Given the description of an element on the screen output the (x, y) to click on. 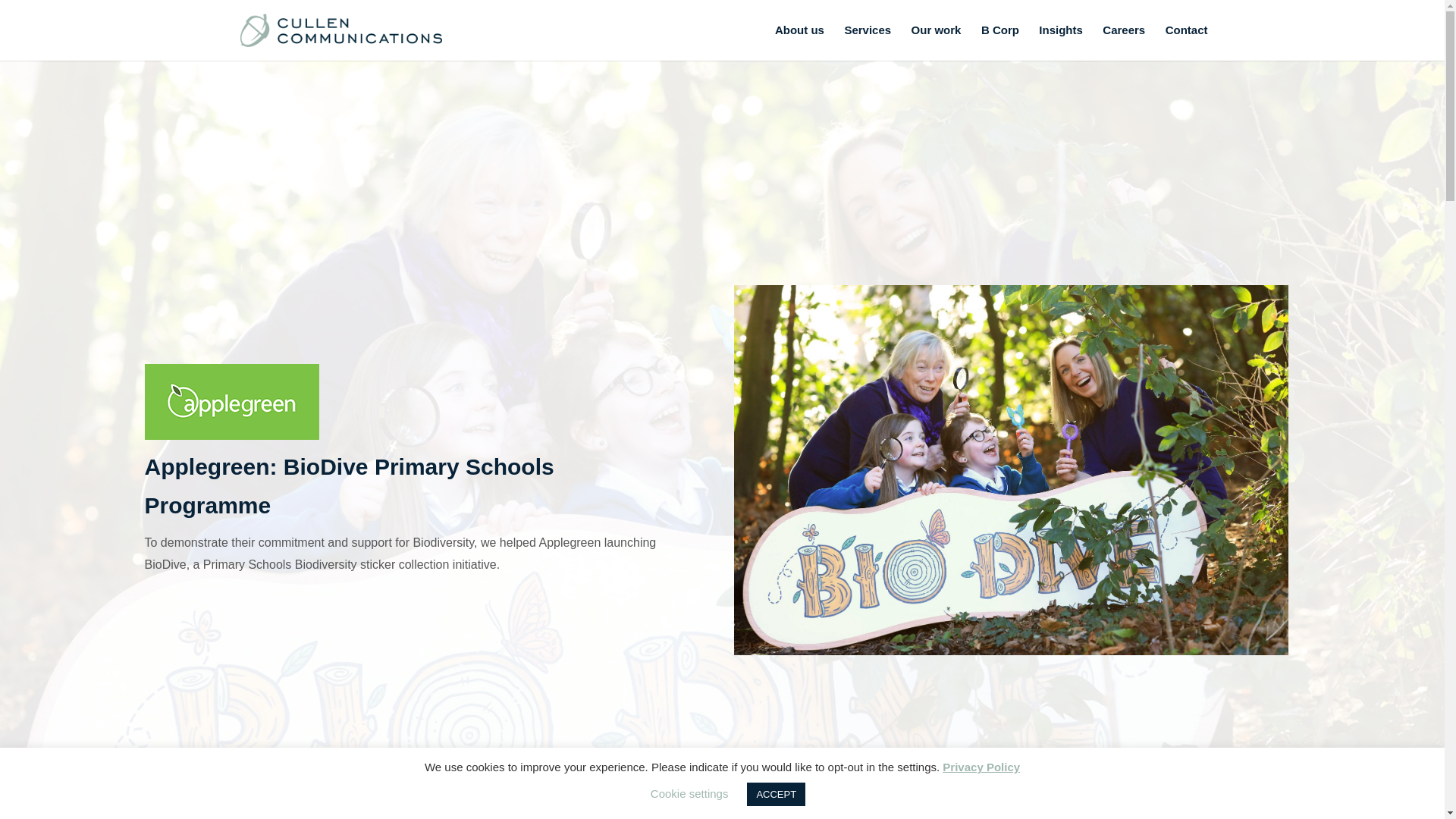
Services (867, 42)
Insights (1061, 42)
Contact (1187, 42)
Careers (1123, 42)
B Corp (1000, 42)
About us (799, 42)
Our work (935, 42)
